Given the description of an element on the screen output the (x, y) to click on. 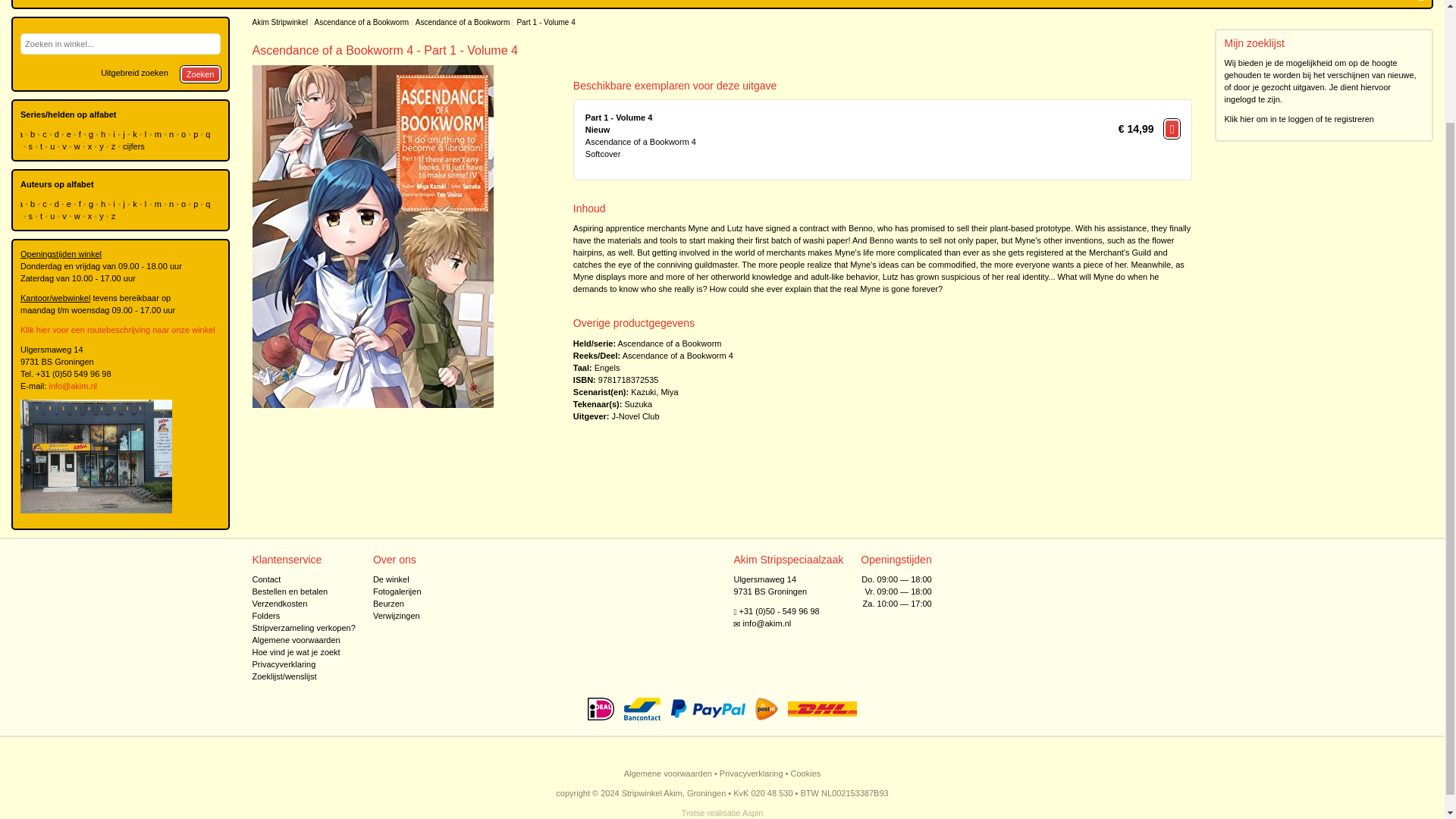
Aanbiedingen (451, 3)
0 (1420, 3)
Ascendance of a Bookworm (462, 22)
Striphoesjes (386, 3)
Akim Stripwinkel (279, 22)
Comics (239, 3)
Klik hier om in te loggen of te registreren (1299, 118)
Nieuwe strips (86, 3)
Zoeken (200, 74)
Blog (37, 3)
Antiquarisch (149, 3)
Suzuka (638, 403)
Ascendance of a Bookworm (674, 355)
Uitgebreid zoeken (134, 72)
Manga (199, 3)
